Given the description of an element on the screen output the (x, y) to click on. 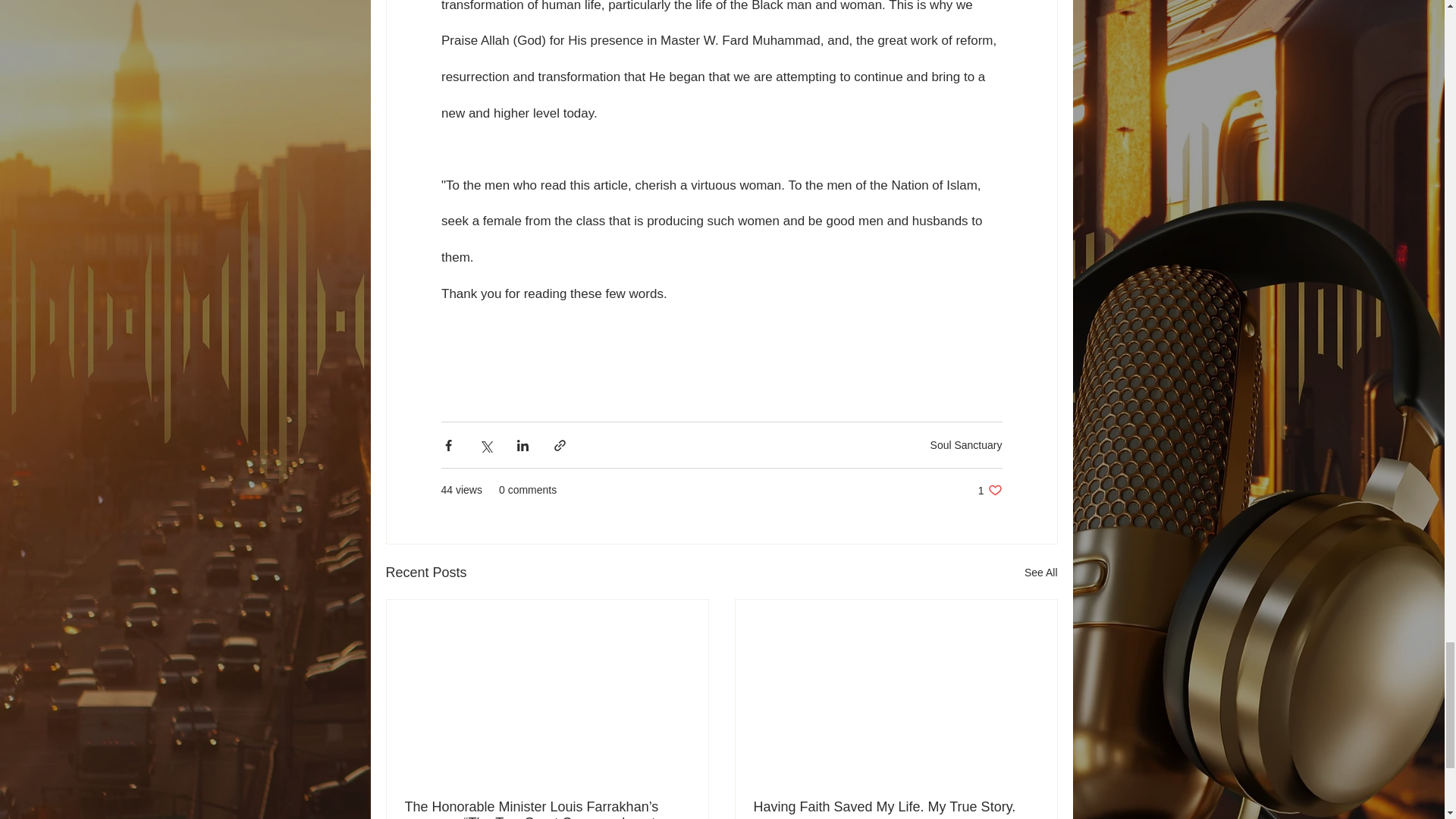
Soul Sanctuary (966, 444)
Having Faith Saved My Life. My True Story. (990, 490)
See All (896, 806)
